Given the description of an element on the screen output the (x, y) to click on. 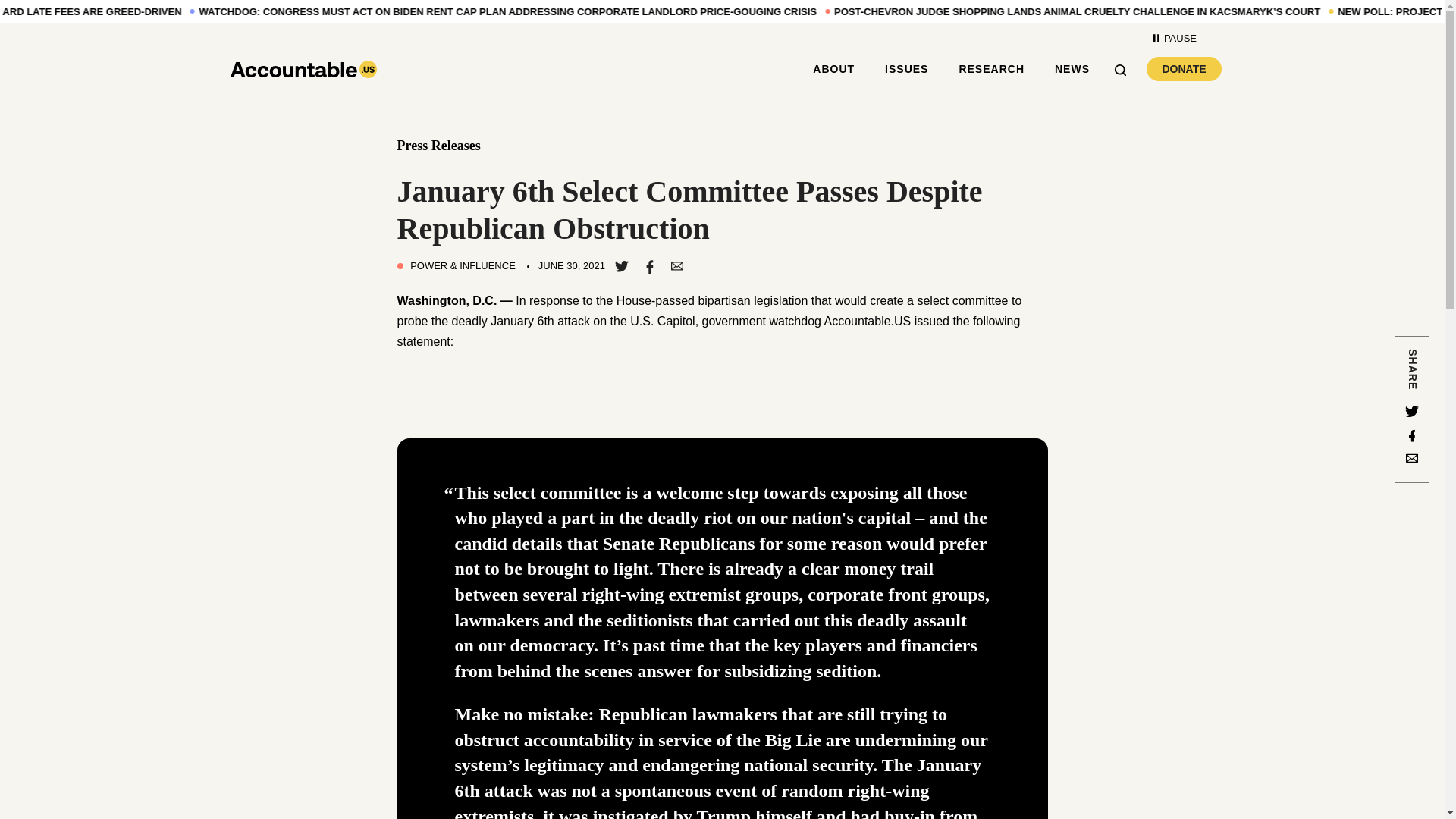
Share this page on Facebook (1412, 435)
SHARE THIS PAGE VIA EMAIL (676, 266)
NEWS (1071, 68)
Share this page via Email (1412, 459)
Share this page via Email (676, 266)
Share this page via Email (1412, 459)
SHARE THIS PAGE ON FACEBOOK (649, 265)
RESEARCH (991, 68)
Search (1125, 68)
Press Releases (438, 145)
PAUSE (1184, 68)
ABOUT (1173, 38)
Share this page on Twitter (833, 68)
